Given the description of an element on the screen output the (x, y) to click on. 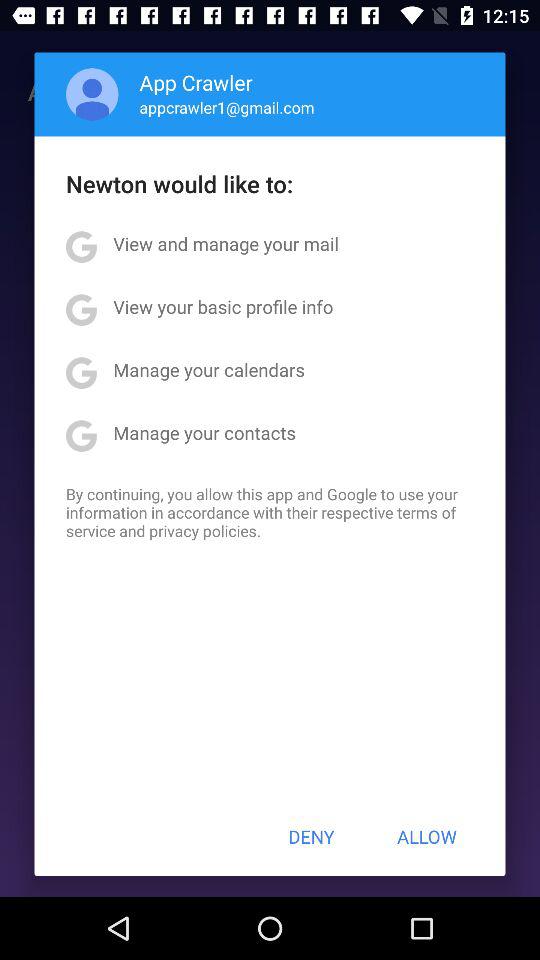
press item at the bottom (311, 836)
